Given the description of an element on the screen output the (x, y) to click on. 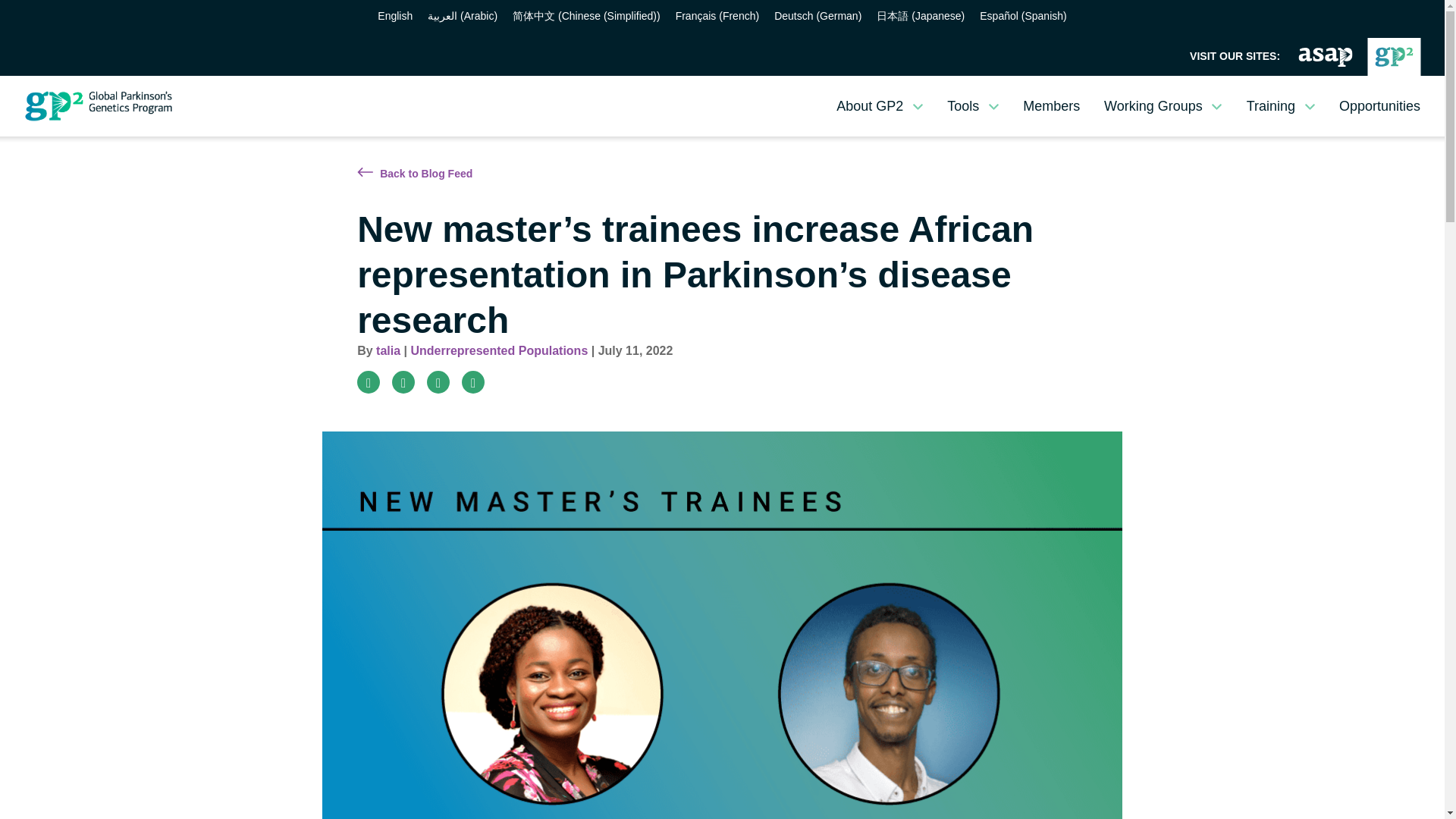
Training (1280, 105)
Tools (972, 105)
Members (1050, 105)
Working Groups (1163, 105)
Back to Blog Feed (413, 173)
VISIT ALIGNING SCIENCE ACROSS PARKINSON'S WEBSITE (1325, 56)
Opportunities (1379, 105)
VISIT GLOBAL PARKINSON'S GENETICS PROGRAM WEBSITE (1394, 56)
talia (387, 350)
English (394, 15)
